Given the description of an element on the screen output the (x, y) to click on. 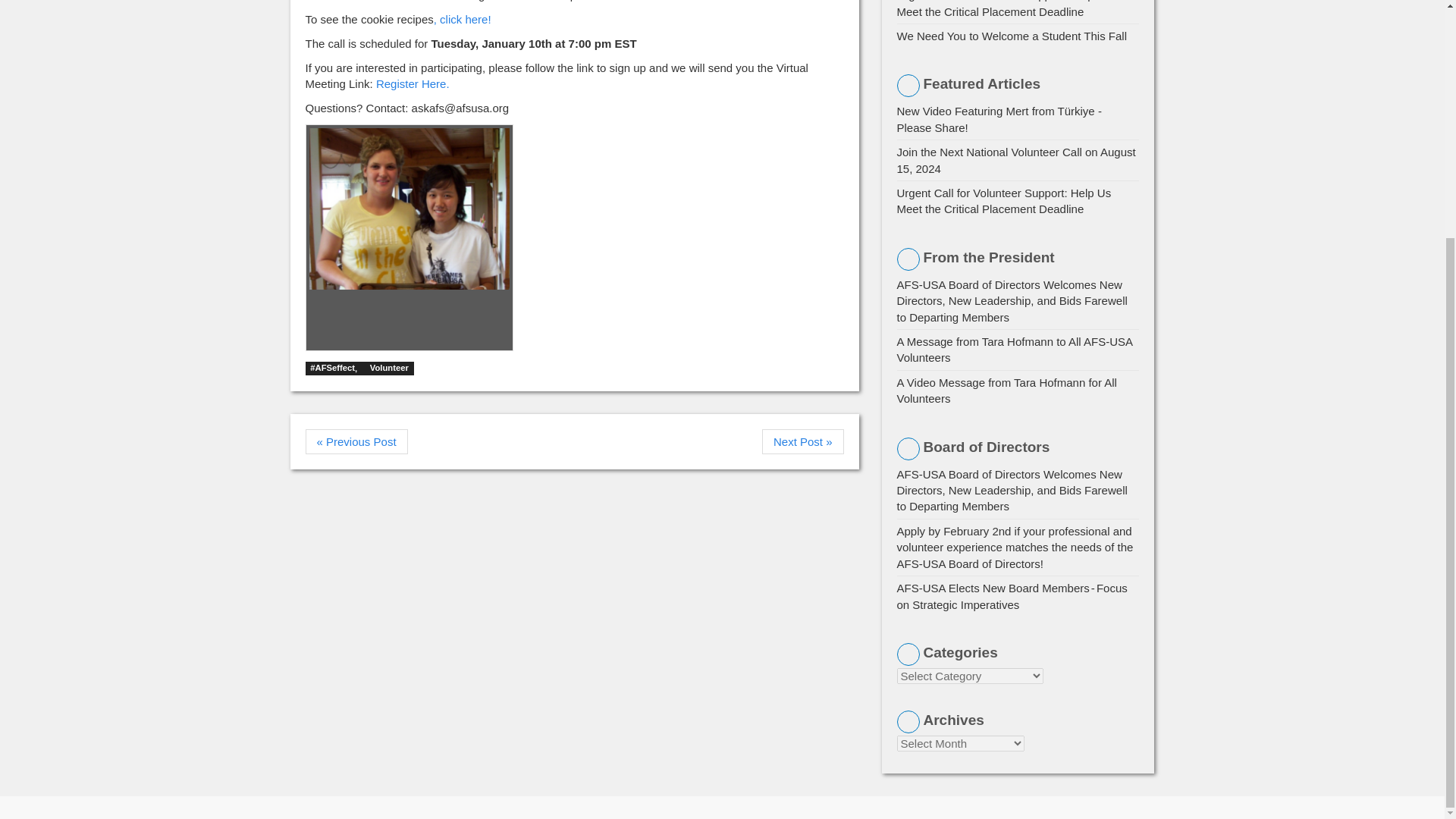
We Need You to Welcome a Student This Fall (1011, 35)
Volunteer (389, 368)
Join the Next National Volunteer Call on August 15, 2024 (1015, 159)
Register Here. (412, 83)
A Video Message from Tara Hofmann for All Volunteers (1006, 389)
A Message from Tara Hofmann to All AFS-USA Volunteers (1014, 348)
